Given the description of an element on the screen output the (x, y) to click on. 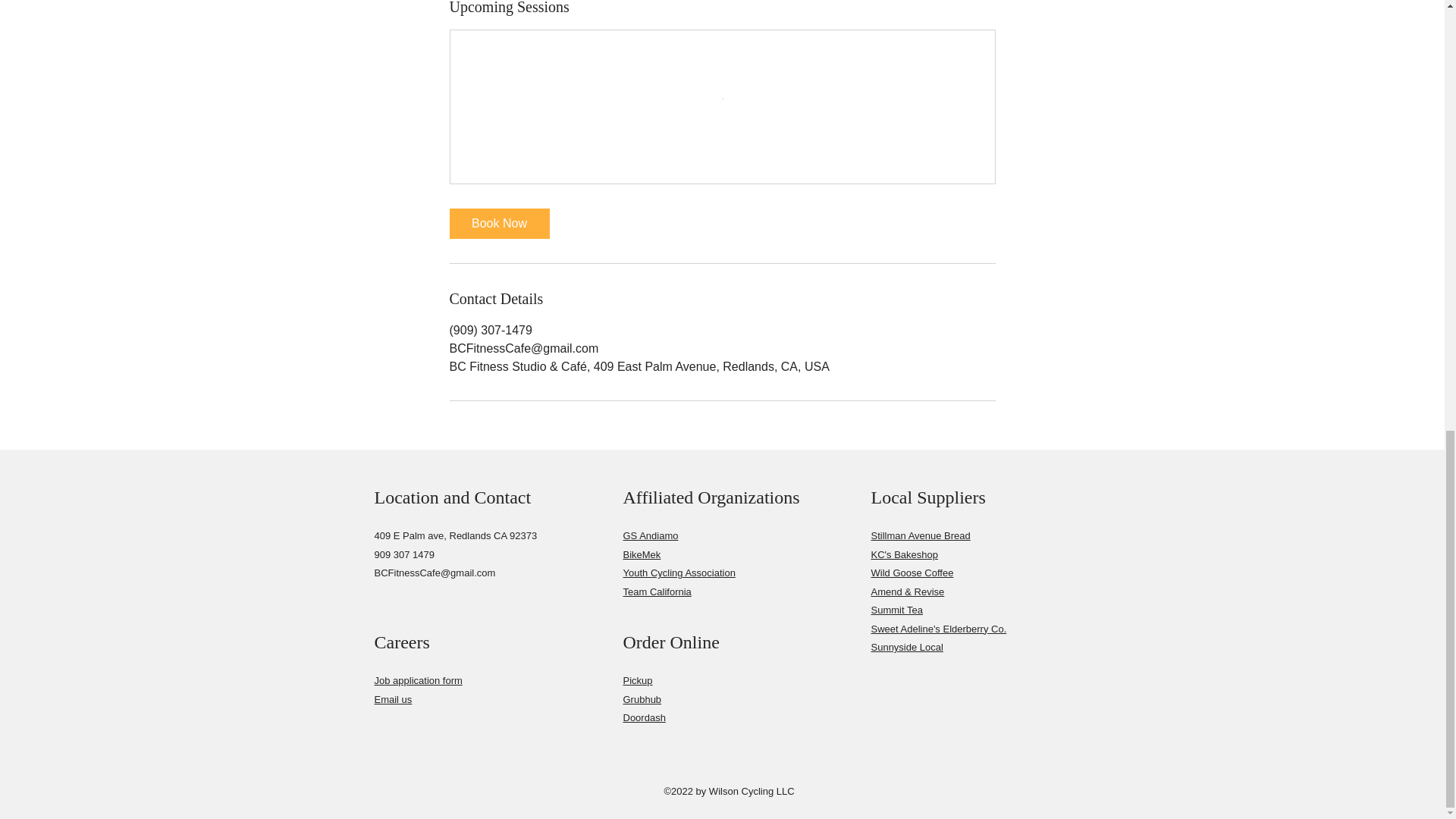
Summit Tea (895, 609)
Pickup (637, 680)
Wild Goose Coffee (911, 572)
Book Now (498, 223)
KC's Bakeshop (903, 554)
Grubhub (642, 698)
Youth Cycling Association (679, 572)
Sweet Adeline's Elderberry Co. (938, 628)
GS Andiamo (650, 535)
Doordash (644, 717)
